Given the description of an element on the screen output the (x, y) to click on. 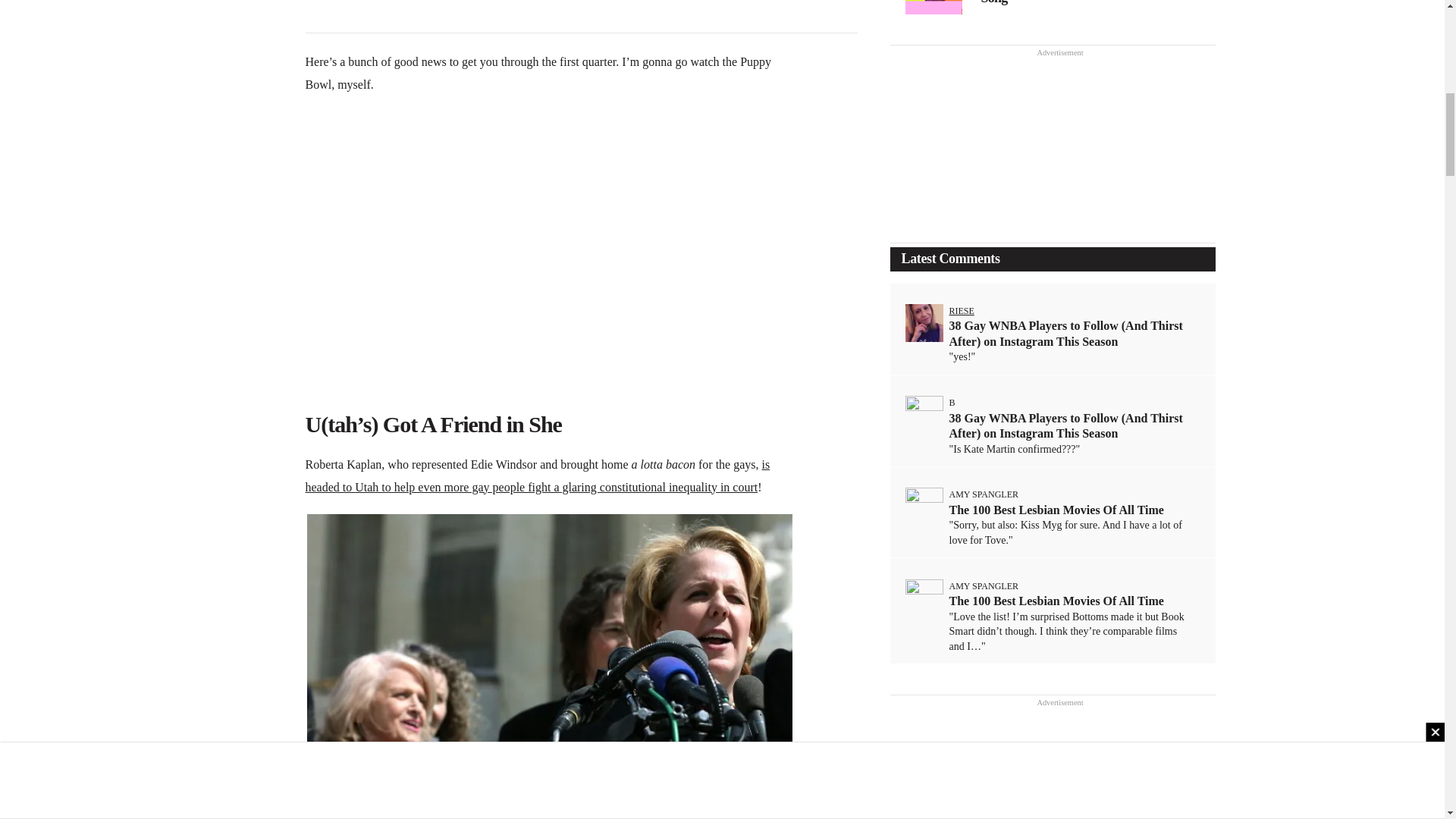
3rd party ad content (580, 13)
